Given the description of an element on the screen output the (x, y) to click on. 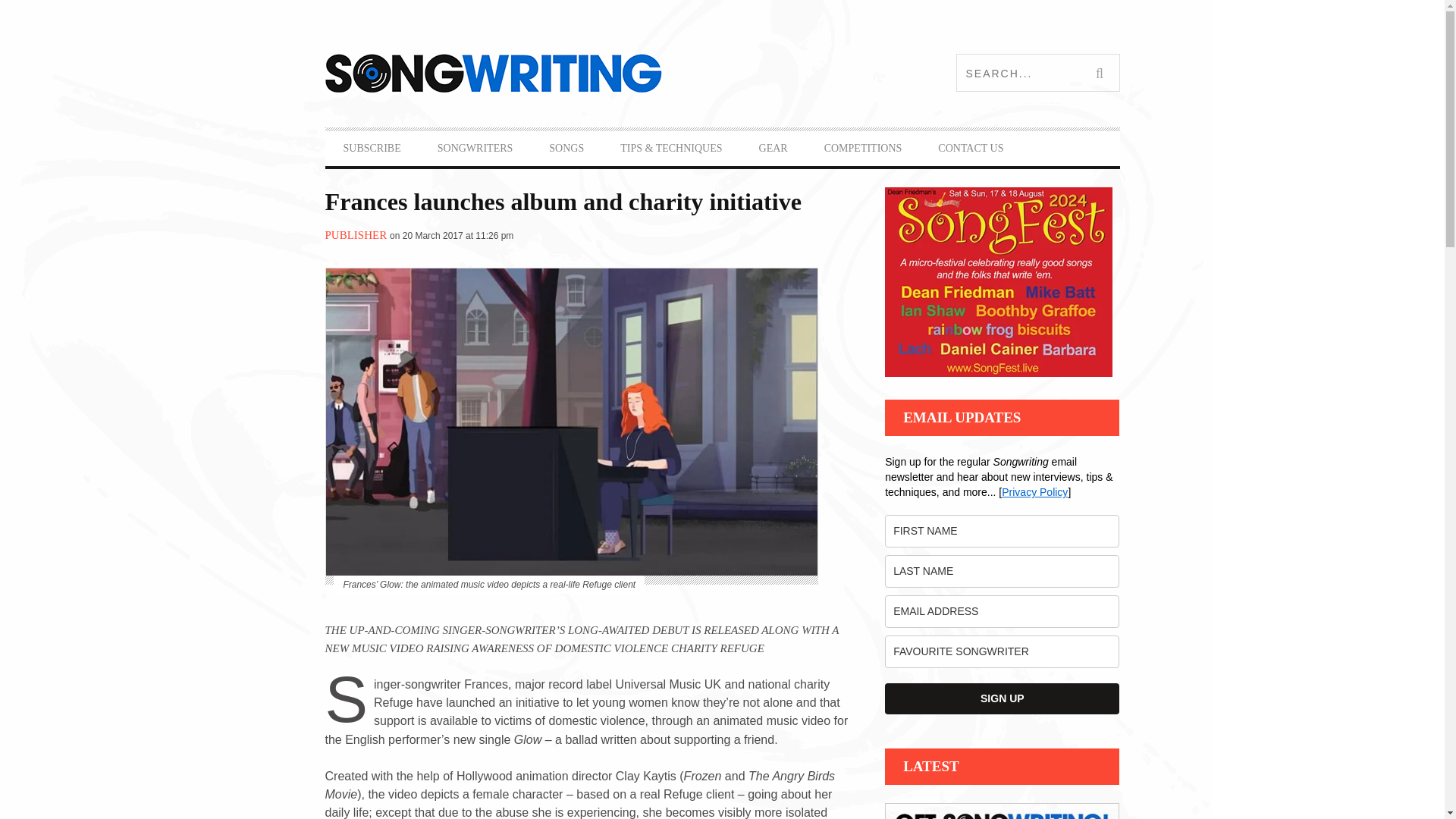
SONGWRITERS (475, 148)
SUBSCRIBE (371, 148)
